Given the description of an element on the screen output the (x, y) to click on. 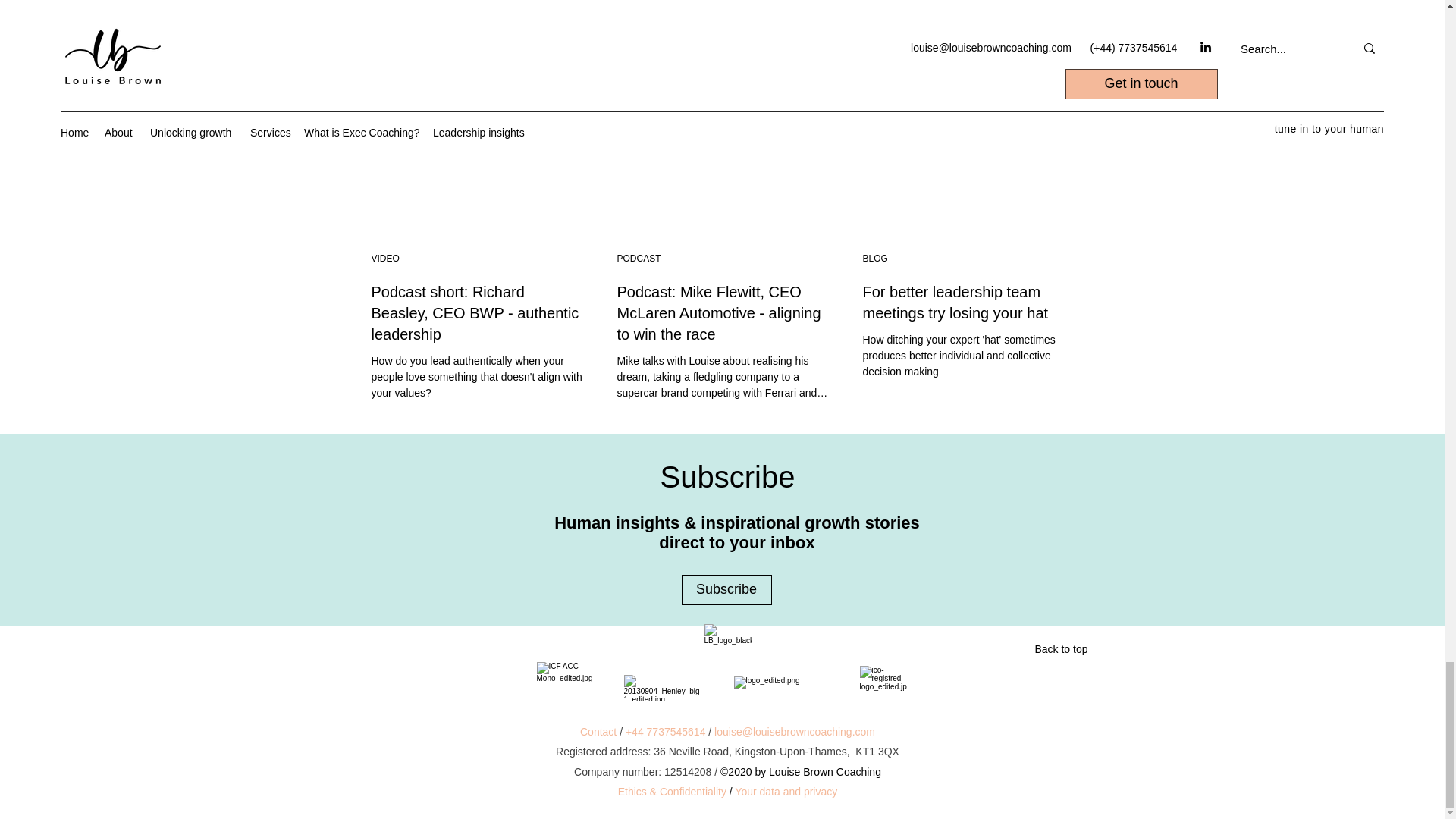
Back to top (1061, 649)
VIDEO (384, 258)
PODCAST (639, 258)
Contact (597, 731)
Subscribe (726, 589)
BLOG (875, 258)
For better leadership team meetings try losing your hat (969, 302)
